Given the description of an element on the screen output the (x, y) to click on. 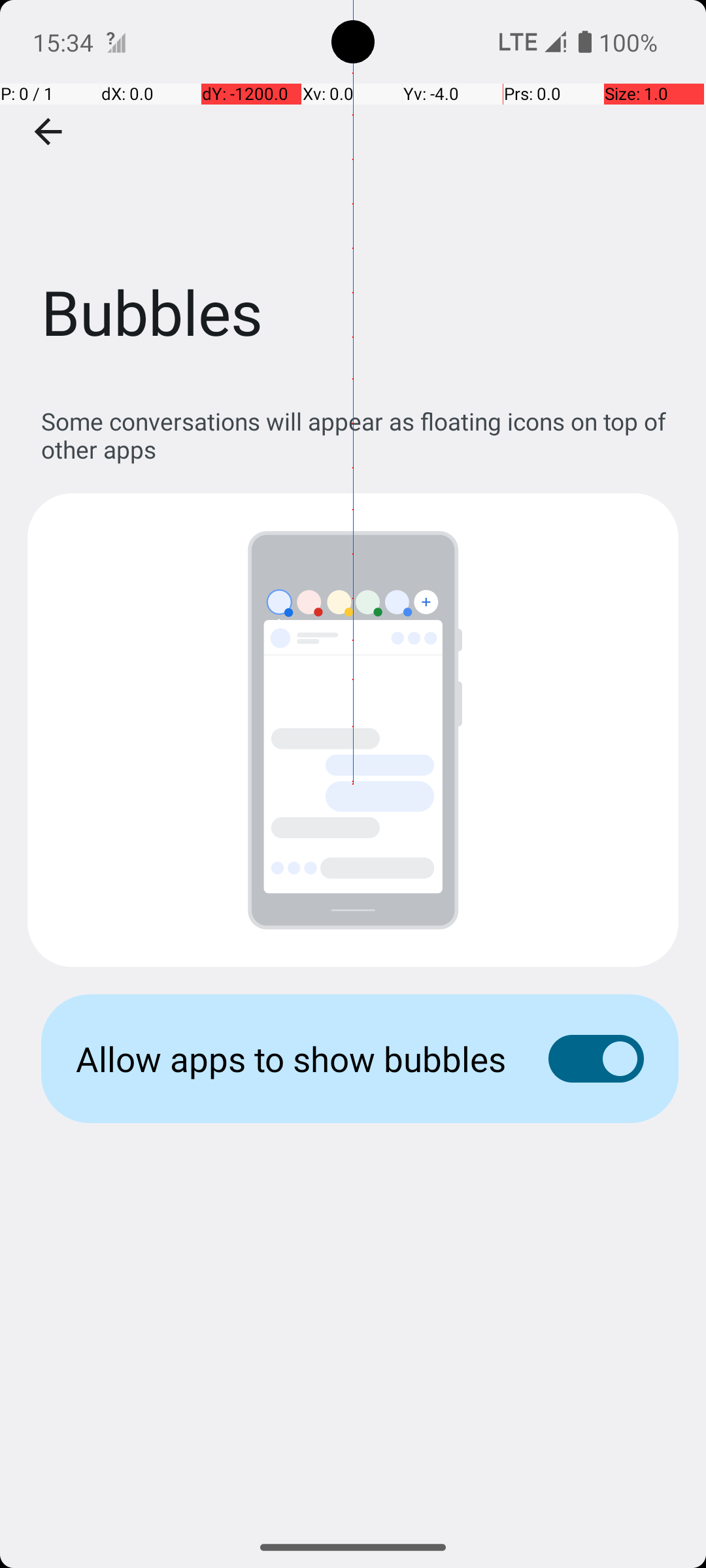
Some conversations will appear as floating icons on top of other apps Element type: android.widget.TextView (359, 434)
Allow apps to show bubbles Element type: android.widget.TextView (291, 1058)
